Given the description of an element on the screen output the (x, y) to click on. 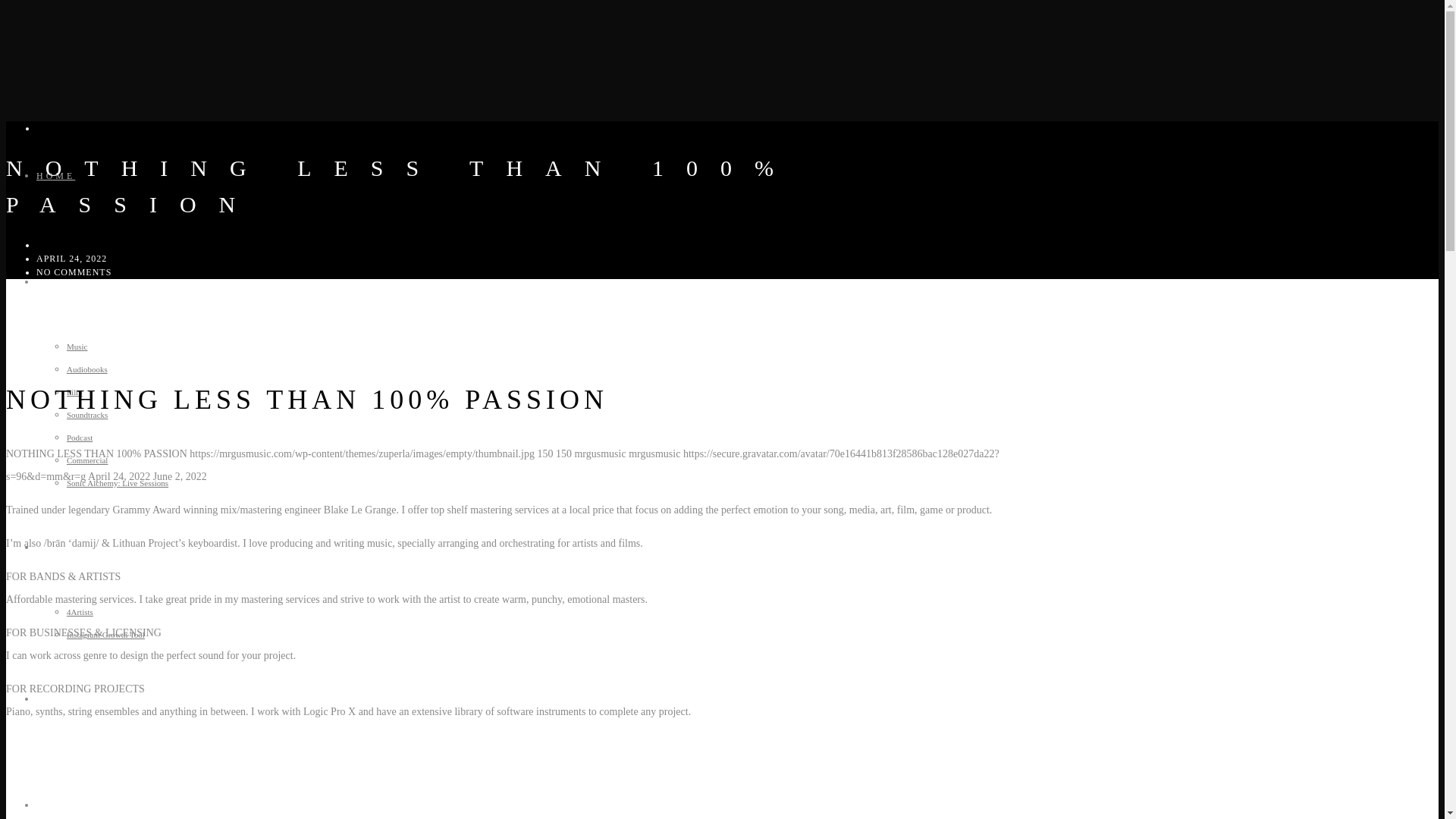
Film (74, 391)
DIGITAL MARKETING (108, 547)
Podcast (79, 437)
Soundtracks (86, 414)
CLIENTS (65, 805)
Audiobooks (86, 368)
Commercial (86, 460)
Sonic Alchemy: Live Sessions (117, 482)
SERVICES (69, 698)
MASTERING SERVICES (92, 127)
MRGUSMUSIC (70, 244)
Music (76, 346)
4Artists (79, 611)
PRODUCTION (80, 281)
HOME (55, 175)
